Given the description of an element on the screen output the (x, y) to click on. 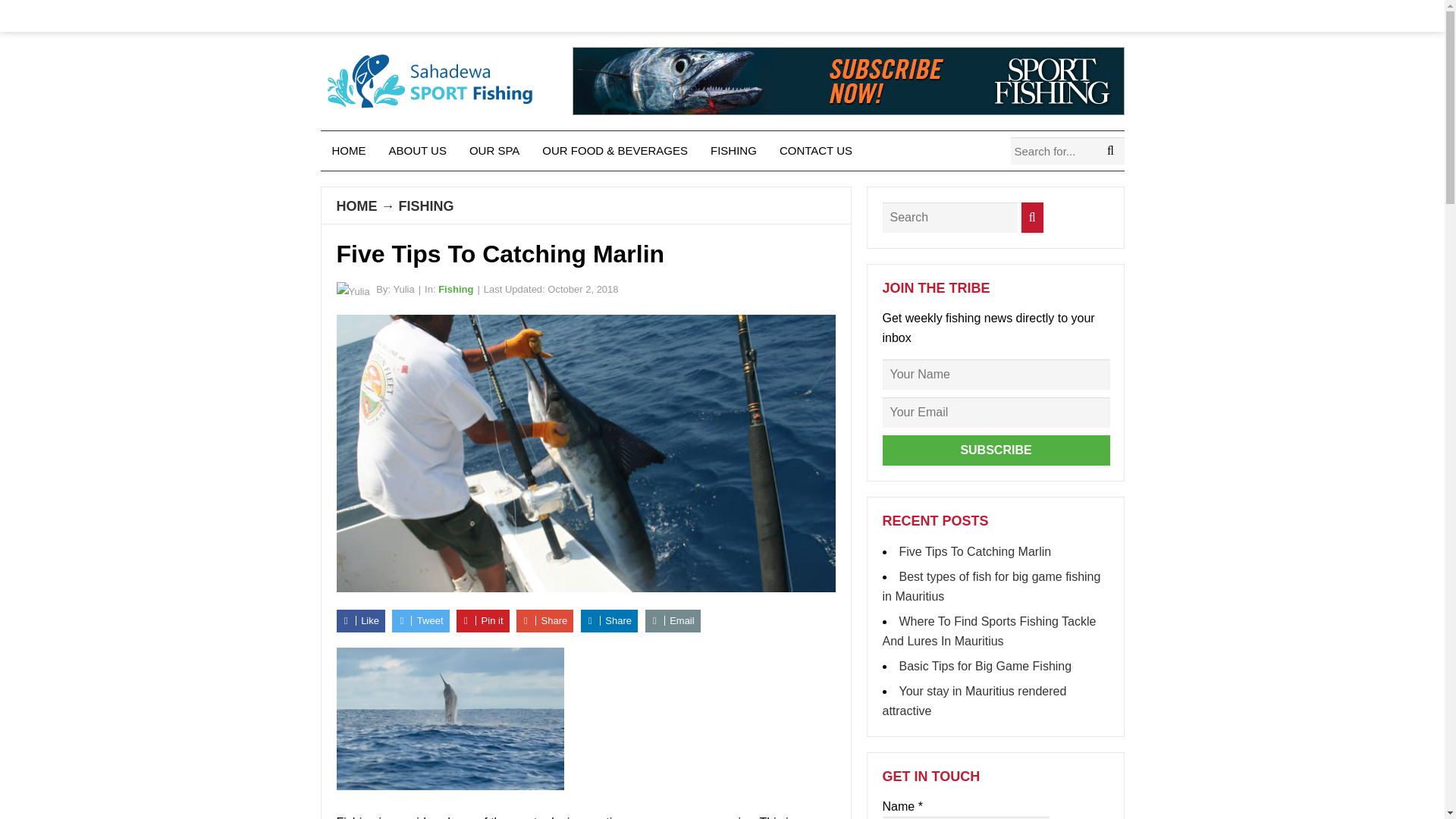
Share (544, 620)
Fishing (455, 288)
OUR SPA (494, 150)
ABOUT US (417, 150)
SUBSCRIBE (995, 450)
Email (672, 620)
Pin it (483, 620)
FISHING (426, 206)
Like (360, 620)
HOME (348, 150)
HOME (356, 206)
Share (608, 620)
FISHING (733, 150)
Five Tips To Catching Marlin (975, 551)
CONTACT US (815, 150)
